Given the description of an element on the screen output the (x, y) to click on. 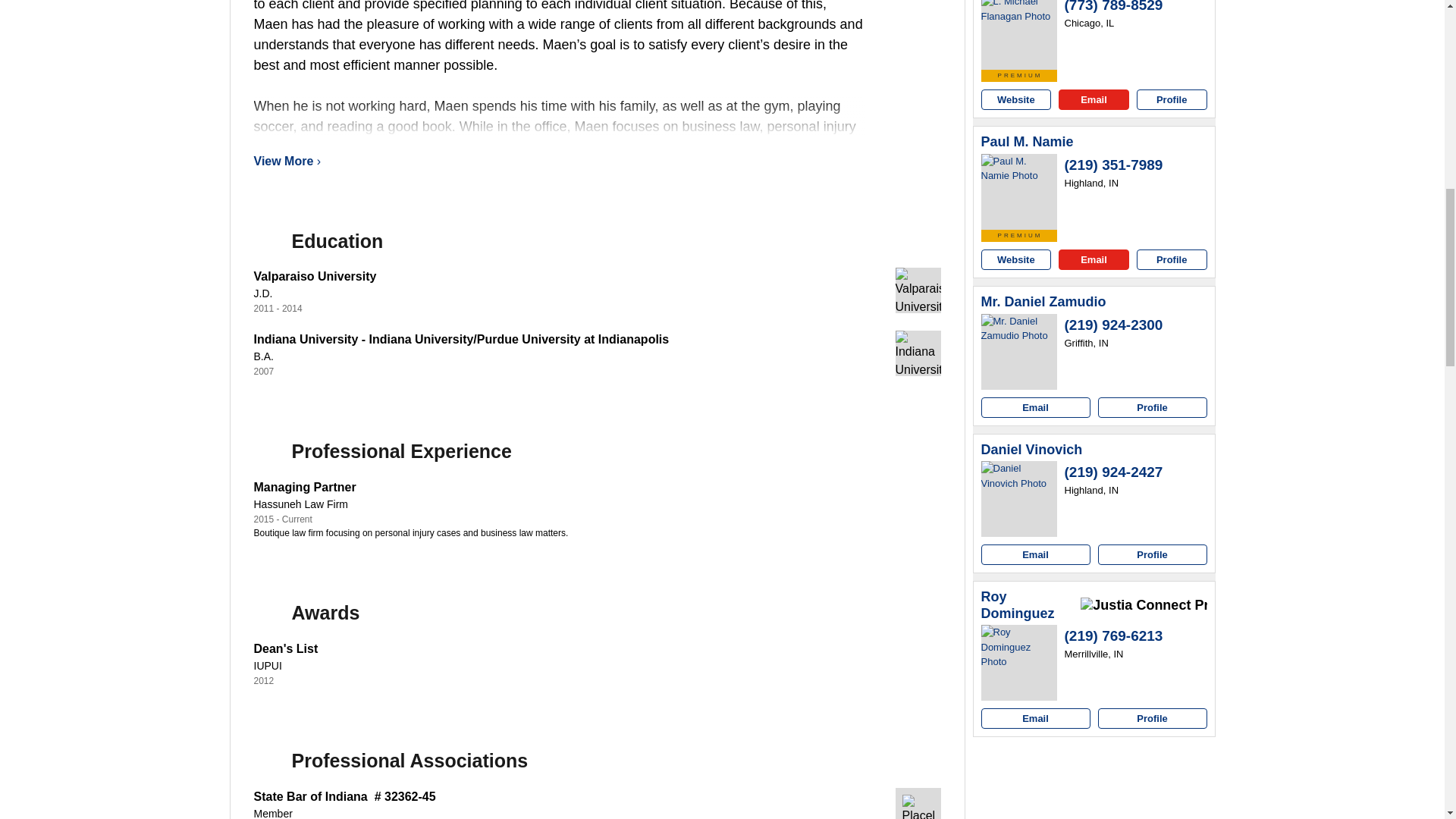
L. Michael Flanagan (1019, 34)
Paul M. Namie (1027, 142)
